Given the description of an element on the screen output the (x, y) to click on. 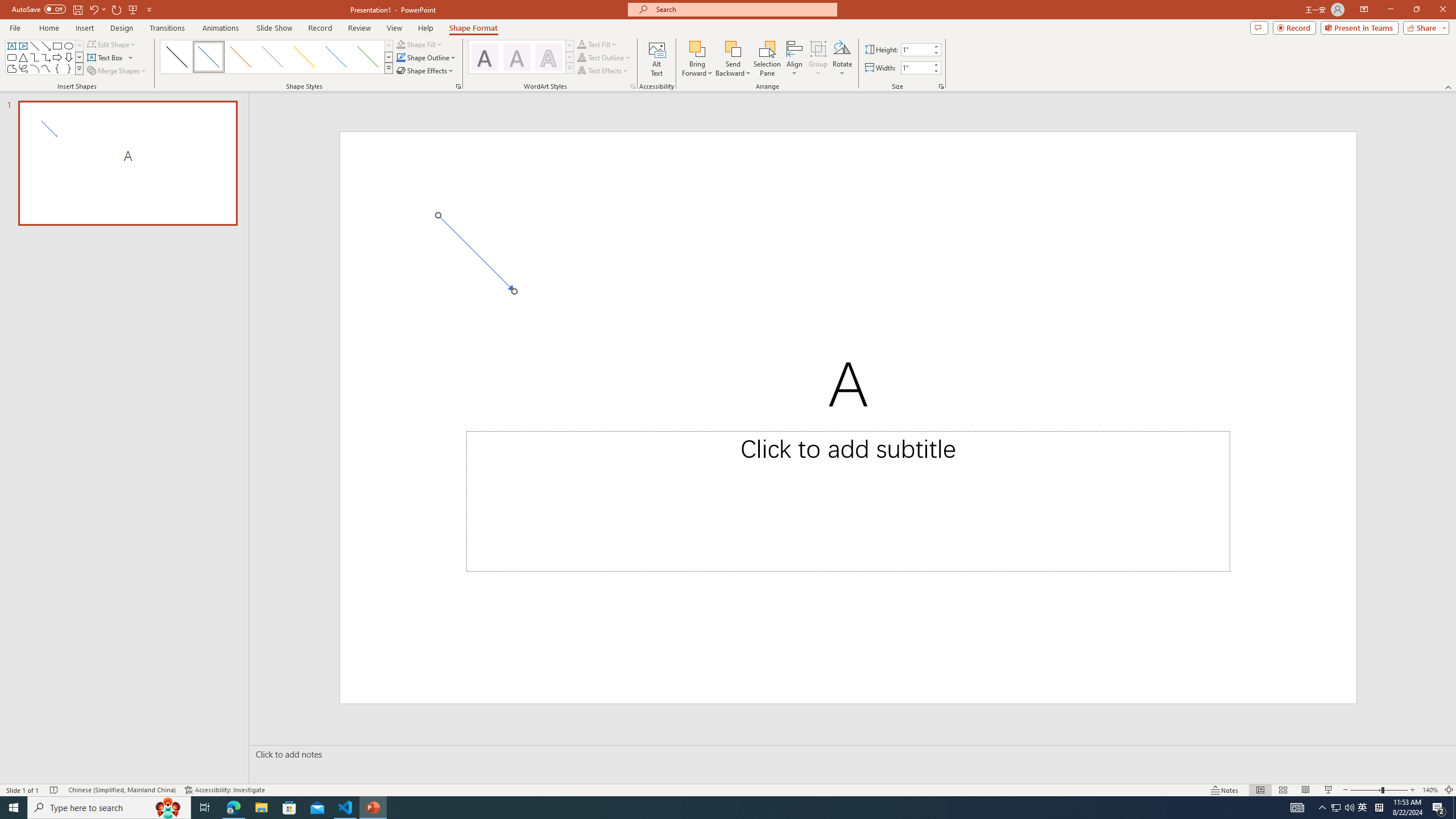
Shape Height (915, 49)
Group (817, 58)
Subtle Line - Accent 1 (208, 56)
Text Fill (596, 44)
